Given the description of an element on the screen output the (x, y) to click on. 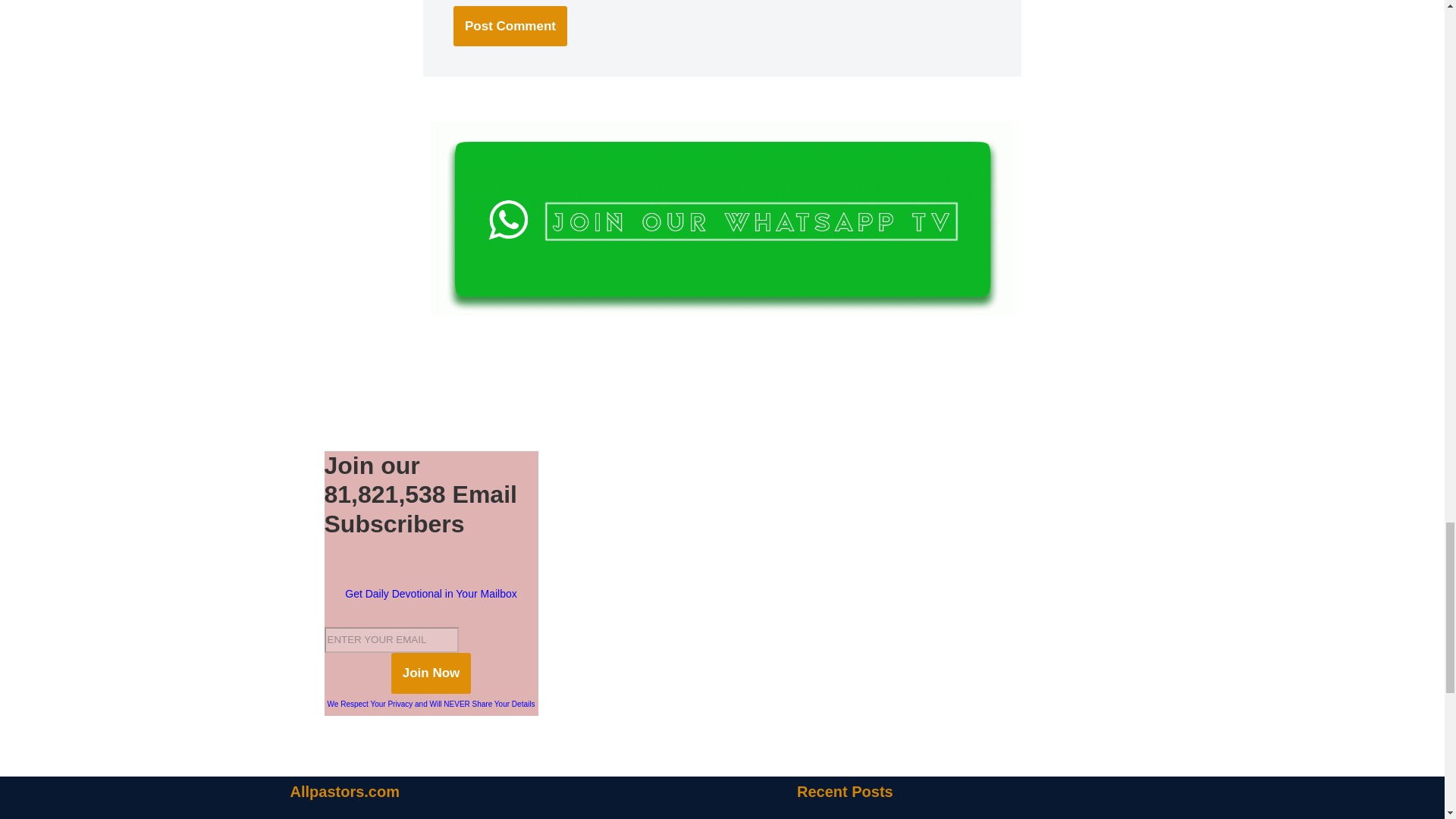
Post Comment (509, 25)
